Given the description of an element on the screen output the (x, y) to click on. 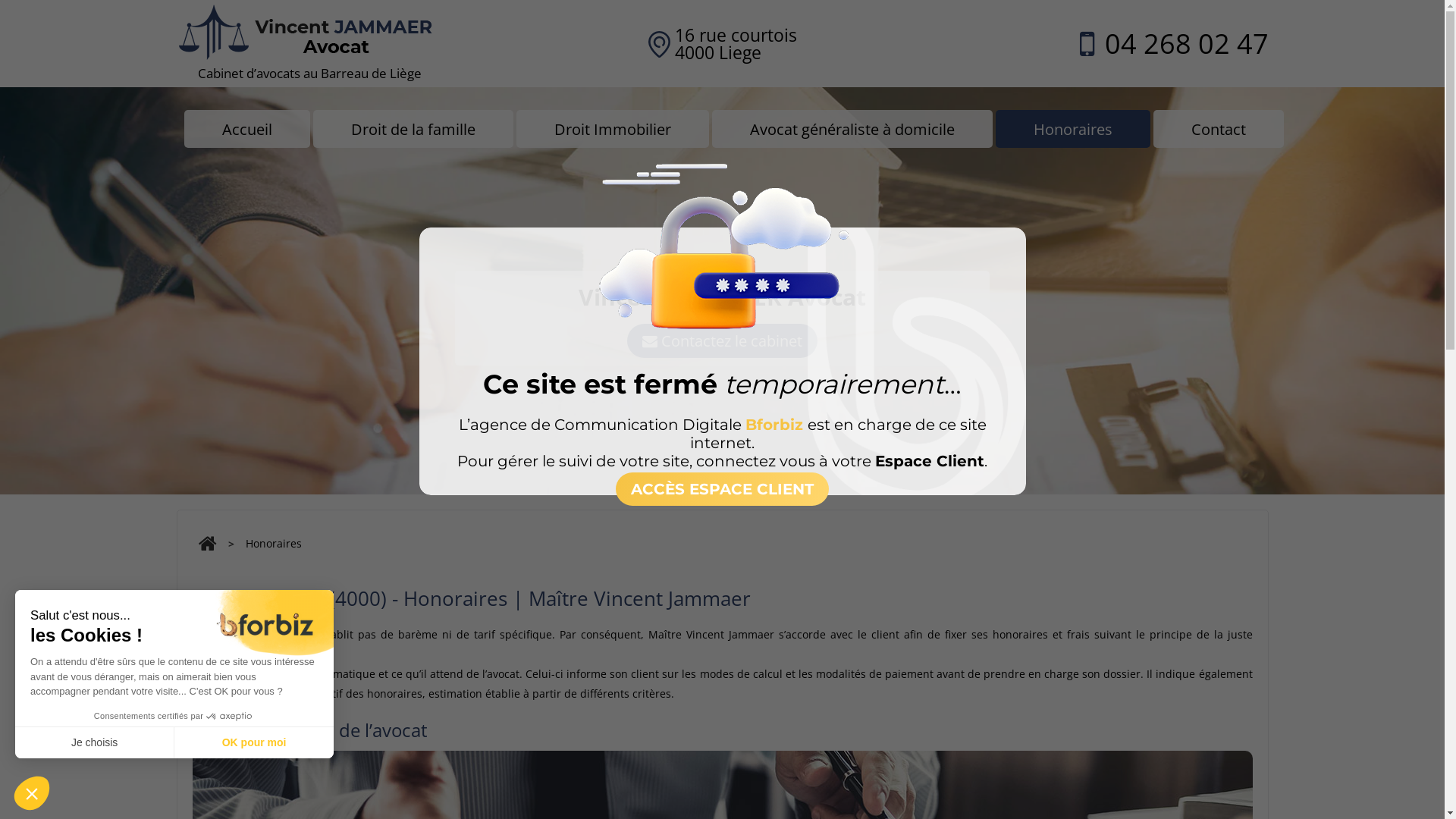
Contactez le cabinet Element type: text (722, 340)
Droit Immobilier Element type: text (611, 128)
Droit de la famille Element type: text (412, 128)
Contact Element type: text (1217, 128)
Accueil Element type: text (246, 128)
04 268 02 47 Element type: text (1185, 43)
Jammaer Vincent Element type: hover (349, 45)
Honoraires Element type: text (1071, 128)
